Given the description of an element on the screen output the (x, y) to click on. 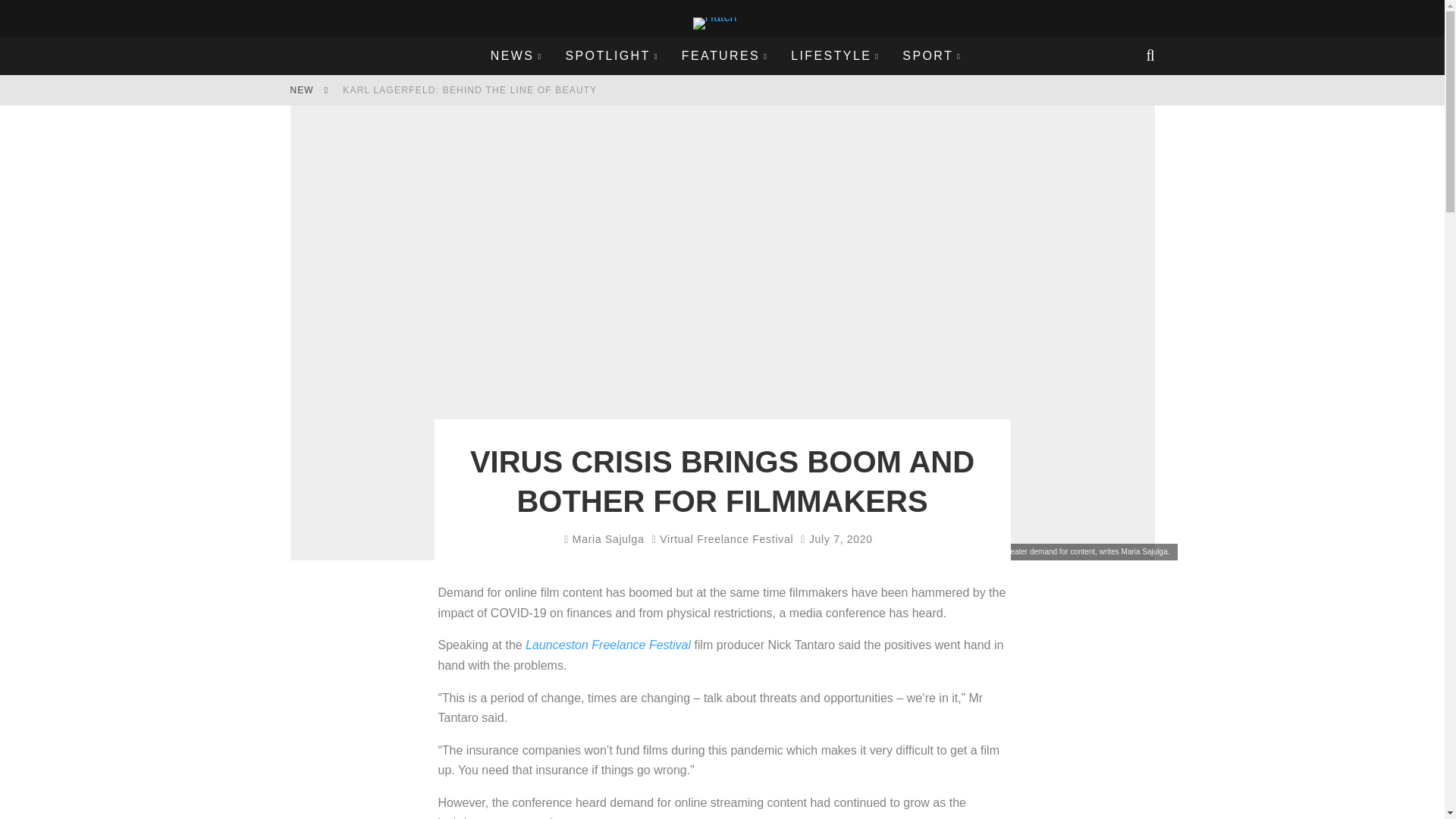
SPOTLIGHT (611, 55)
NEWS (516, 55)
FEATURES (723, 55)
Karl Lagerfeld: Behind the line of beauty (469, 90)
